Given the description of an element on the screen output the (x, y) to click on. 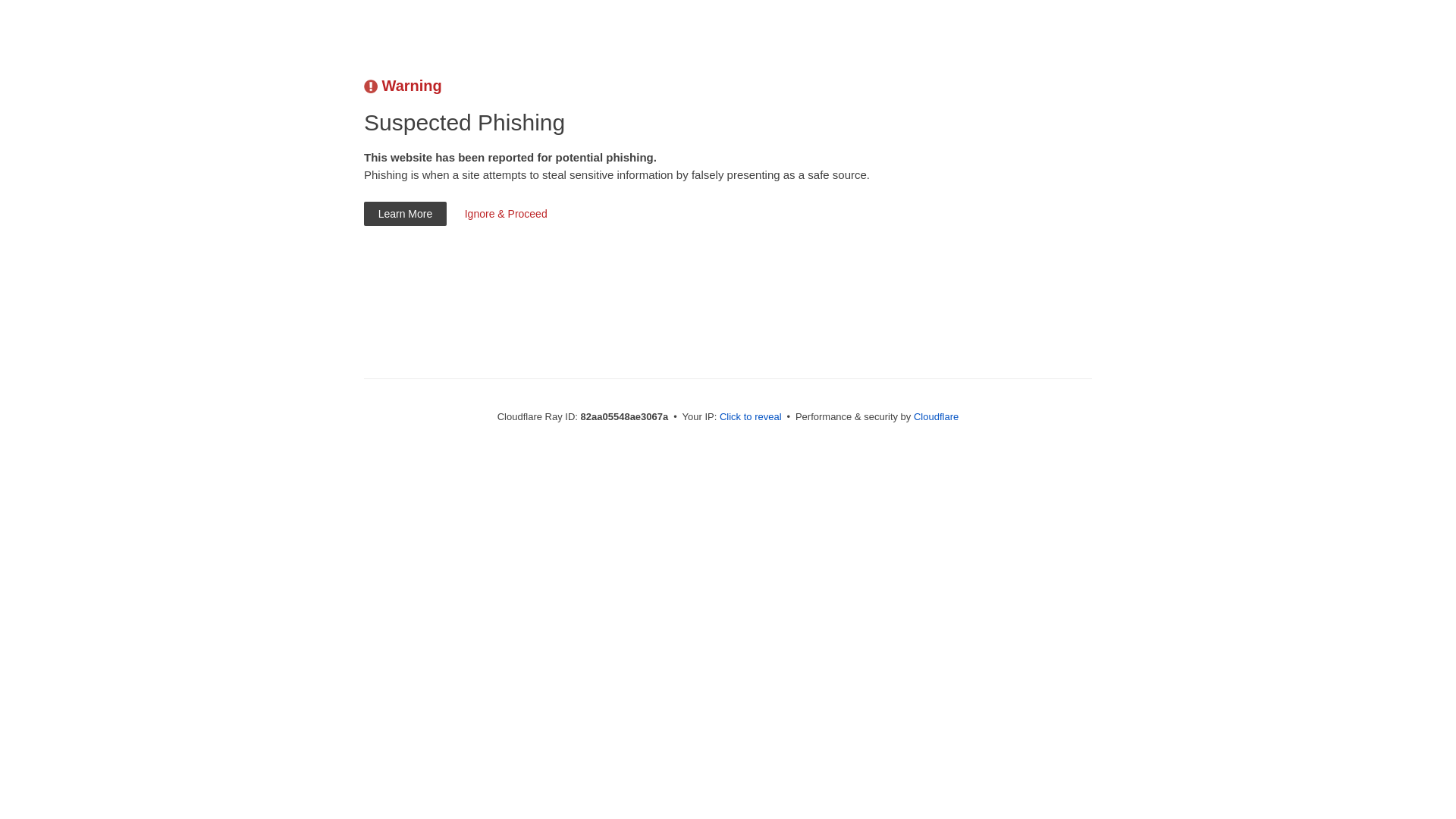
Click to reveal Element type: text (750, 416)
Ignore & Proceed Element type: text (505, 213)
Cloudflare Element type: text (935, 416)
Learn More Element type: text (405, 213)
